Given the description of an element on the screen output the (x, y) to click on. 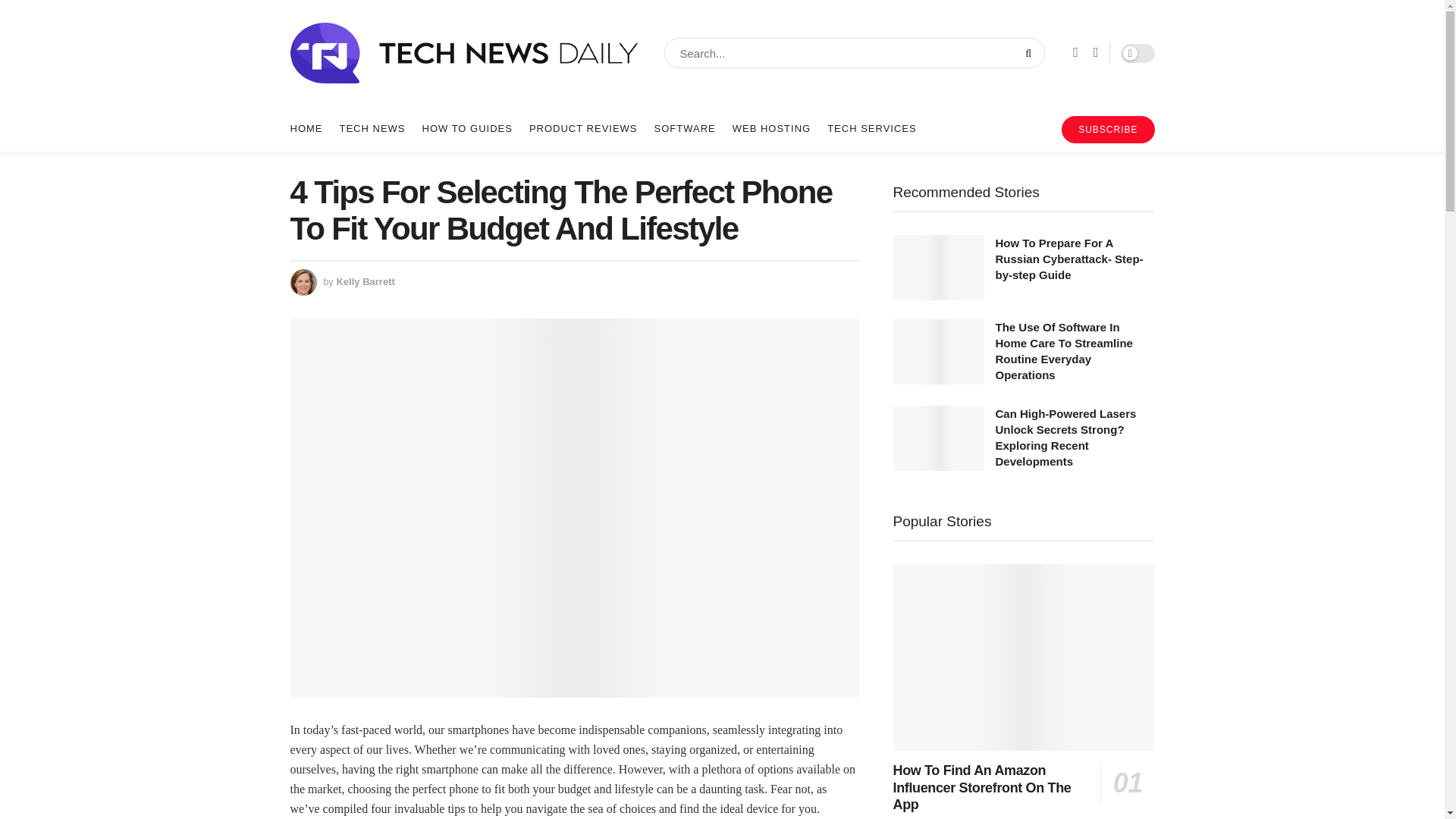
WEB HOSTING (771, 128)
TECH SERVICES (872, 128)
Kelly Barrett (365, 281)
SUBSCRIBE (1107, 129)
SOFTWARE (684, 128)
PRODUCT REVIEWS (583, 128)
TECH NEWS (372, 128)
HOW TO GUIDES (467, 128)
